Given the description of an element on the screen output the (x, y) to click on. 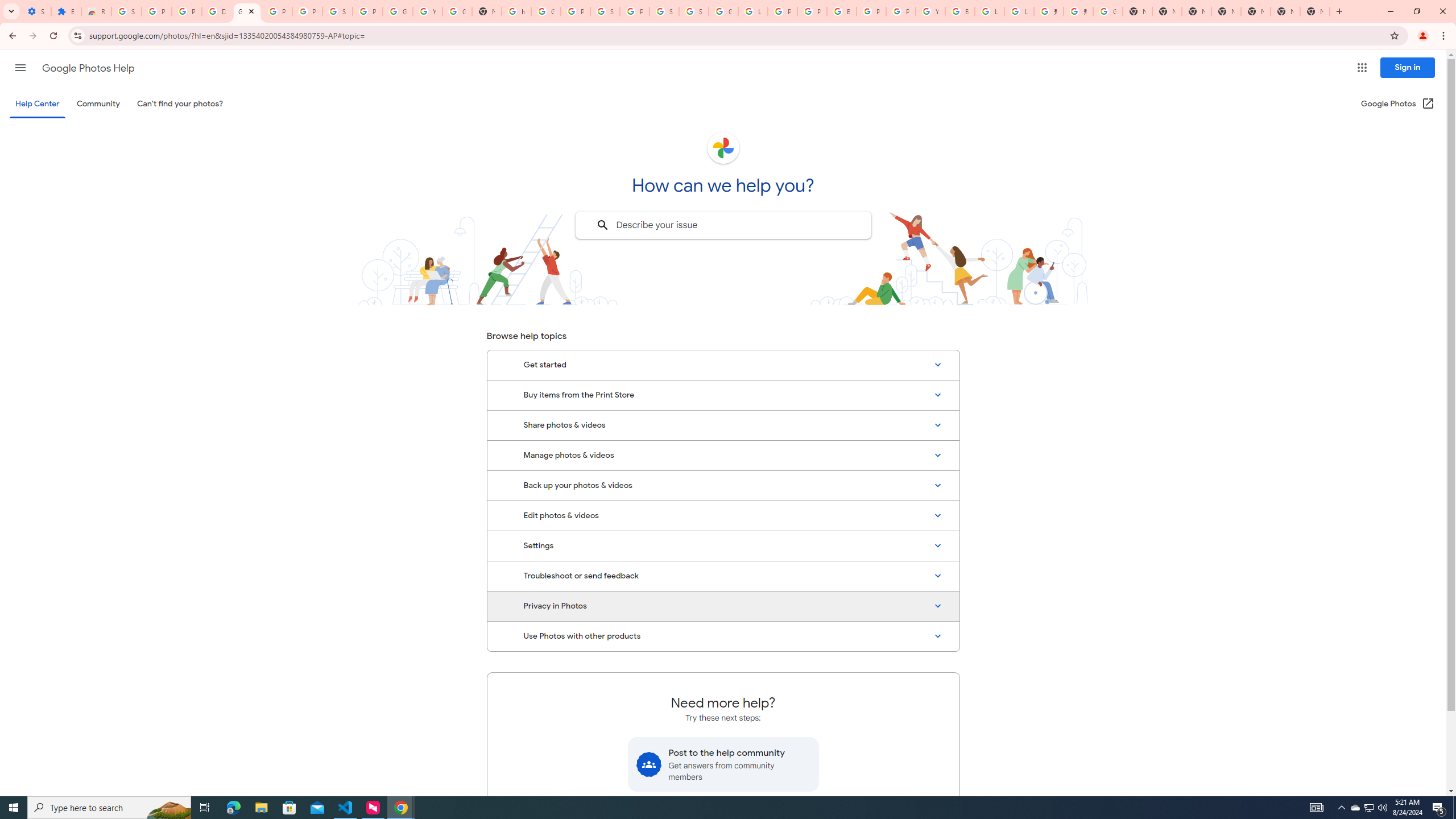
https://scholar.google.com/ (515, 11)
New Tab (1314, 11)
Privacy in Photos (722, 605)
